Given the description of an element on the screen output the (x, y) to click on. 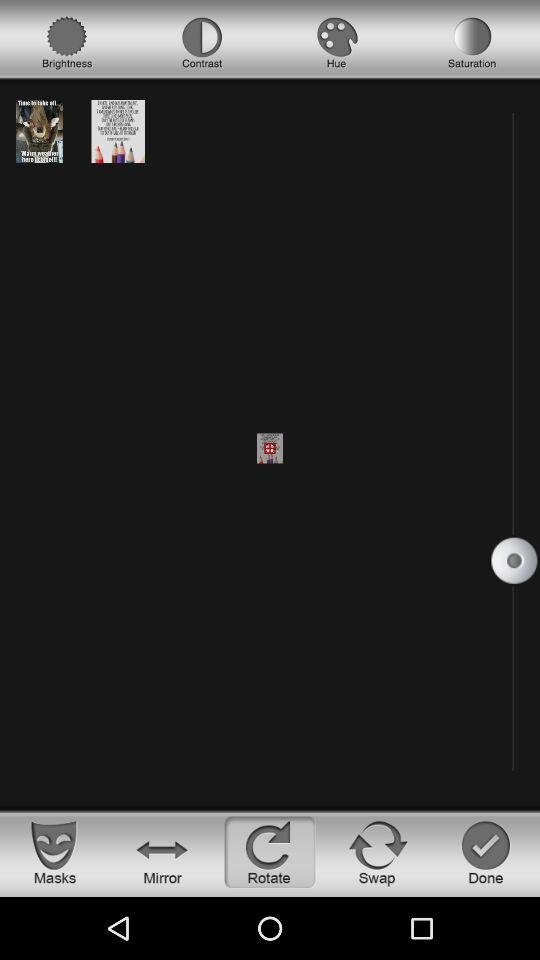
rotate the image (269, 852)
